Given the description of an element on the screen output the (x, y) to click on. 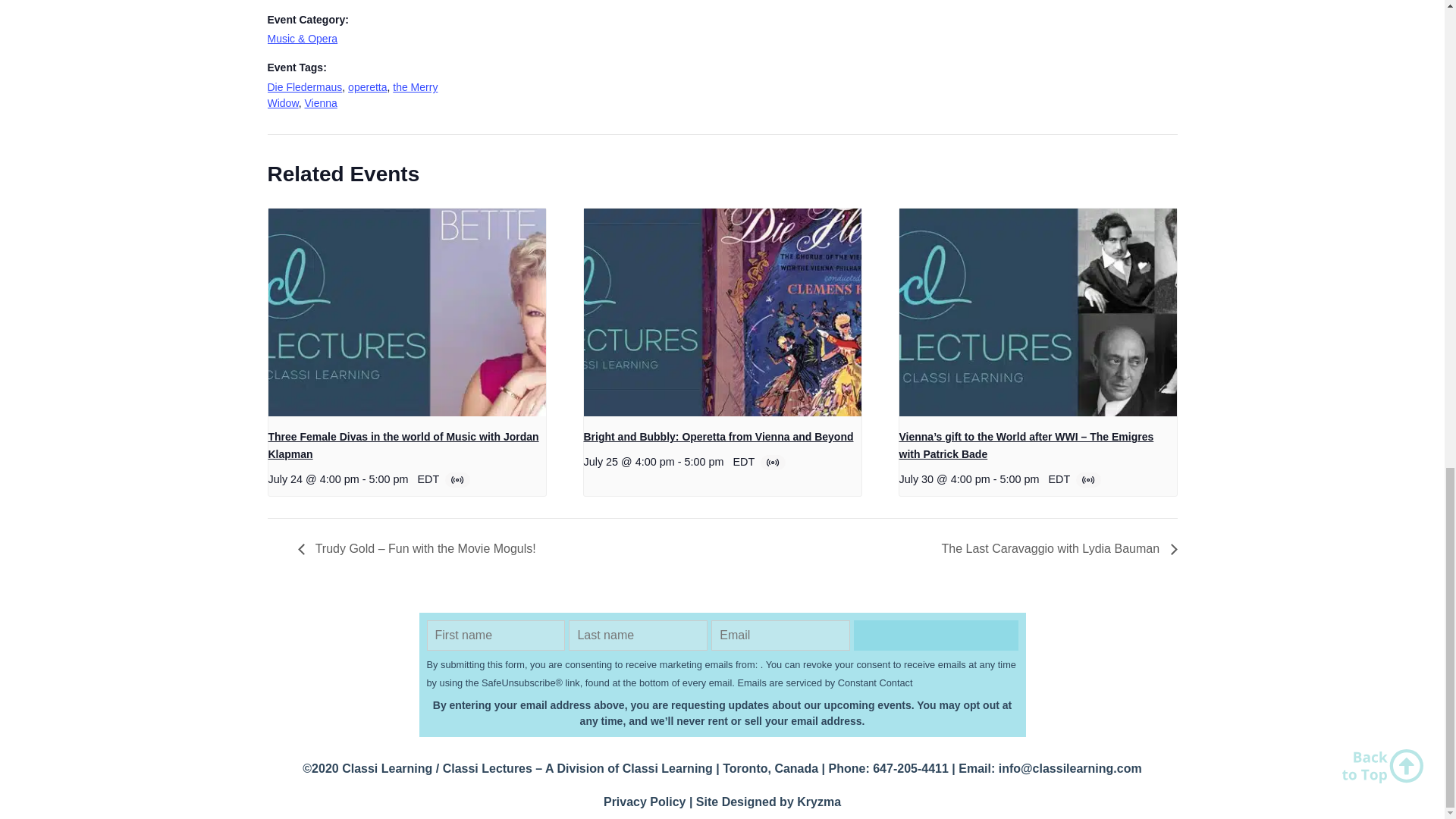
Virtual Event (458, 479)
Virtual Event (1089, 479)
Virtual Event (774, 462)
Stay Informed (935, 634)
